Given the description of an element on the screen output the (x, y) to click on. 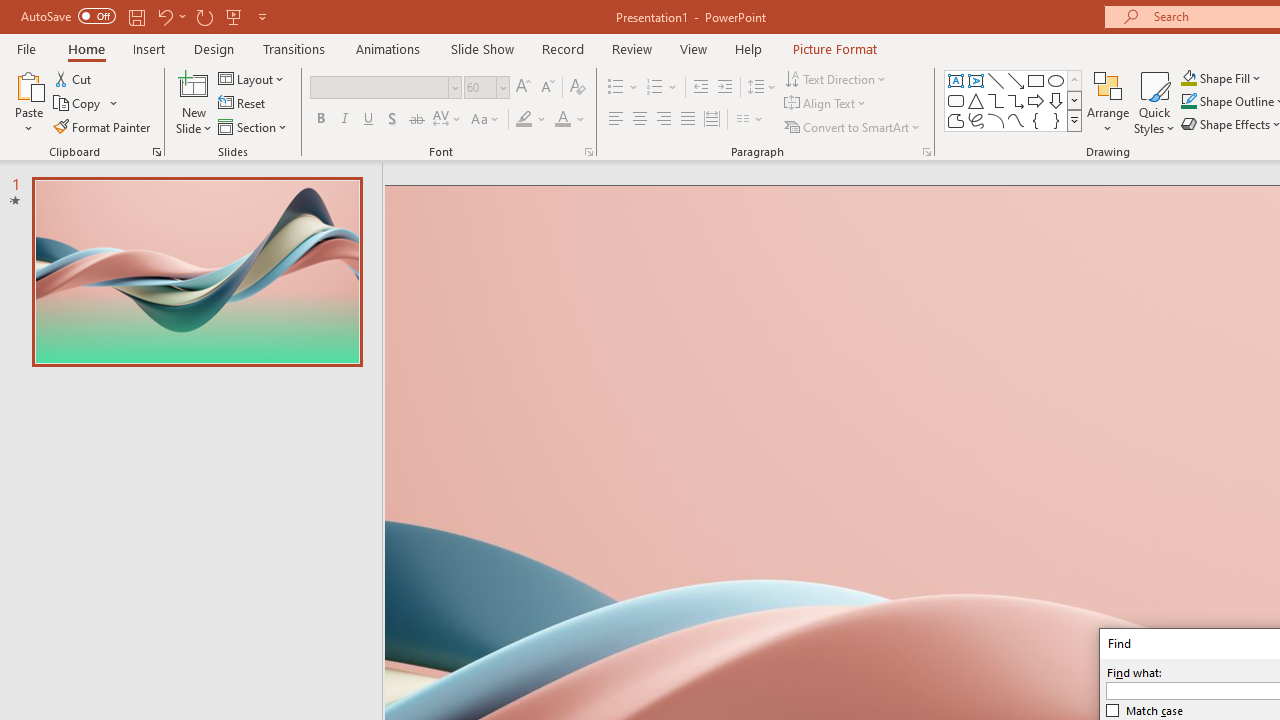
Italic (344, 119)
Font Size (486, 87)
Arc (995, 120)
Text Direction (836, 78)
Vertical Text Box (975, 80)
Line Arrow (1016, 80)
Center (639, 119)
More Options (1232, 78)
Font Color Red (562, 119)
Arrow: Right (1035, 100)
Bold (320, 119)
Office Clipboard... (156, 151)
Picture Format (834, 48)
